Given the description of an element on the screen output the (x, y) to click on. 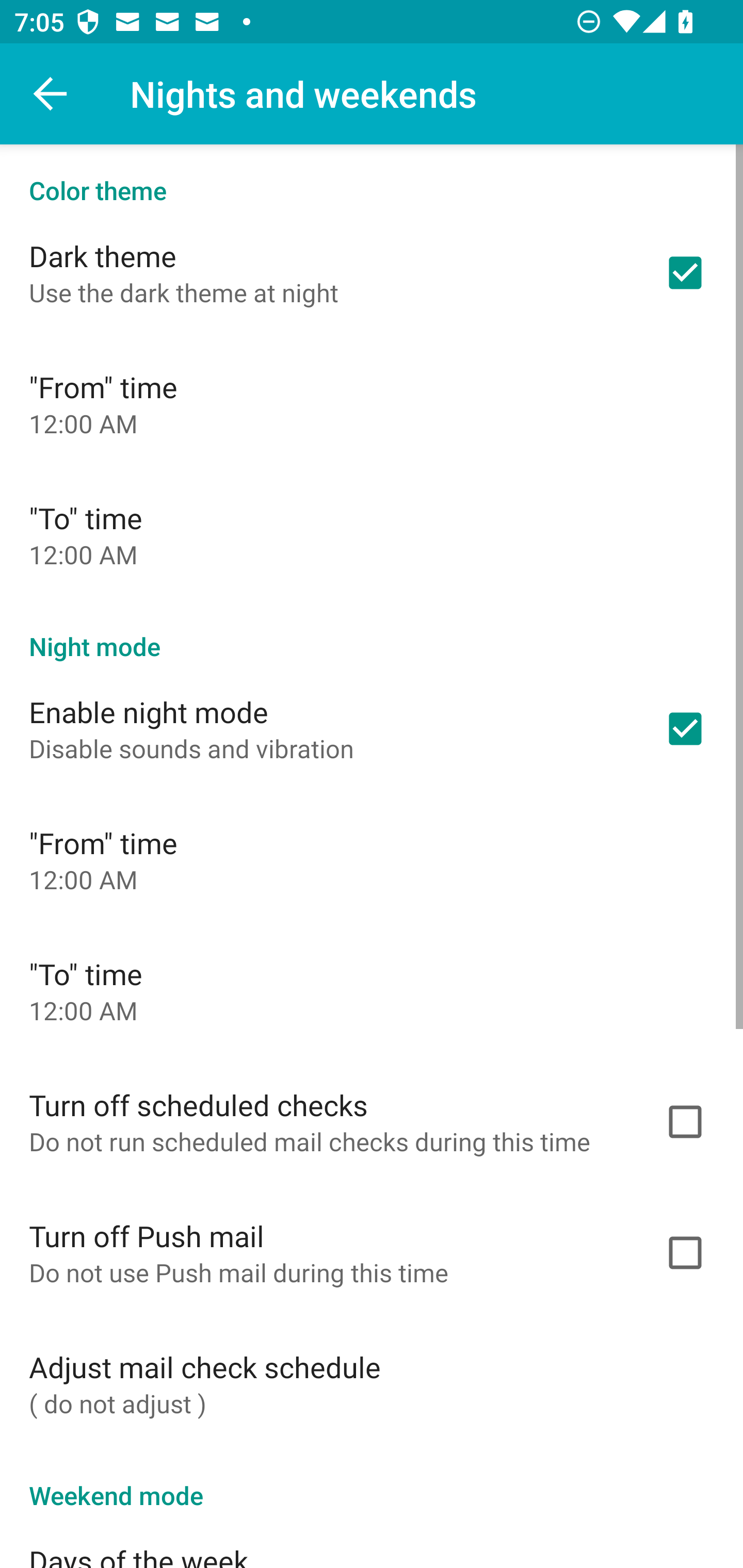
Navigate up (50, 93)
Dark theme Use the dark theme at night (371, 272)
"From" time 12:00 AM (371, 403)
"To" time 12:00 AM (371, 534)
Enable night mode Disable sounds and vibration (371, 728)
"From" time 12:00 AM (371, 859)
"To" time 12:00 AM (371, 990)
Adjust mail check schedule ( do not adjust ) (371, 1383)
